Given the description of an element on the screen output the (x, y) to click on. 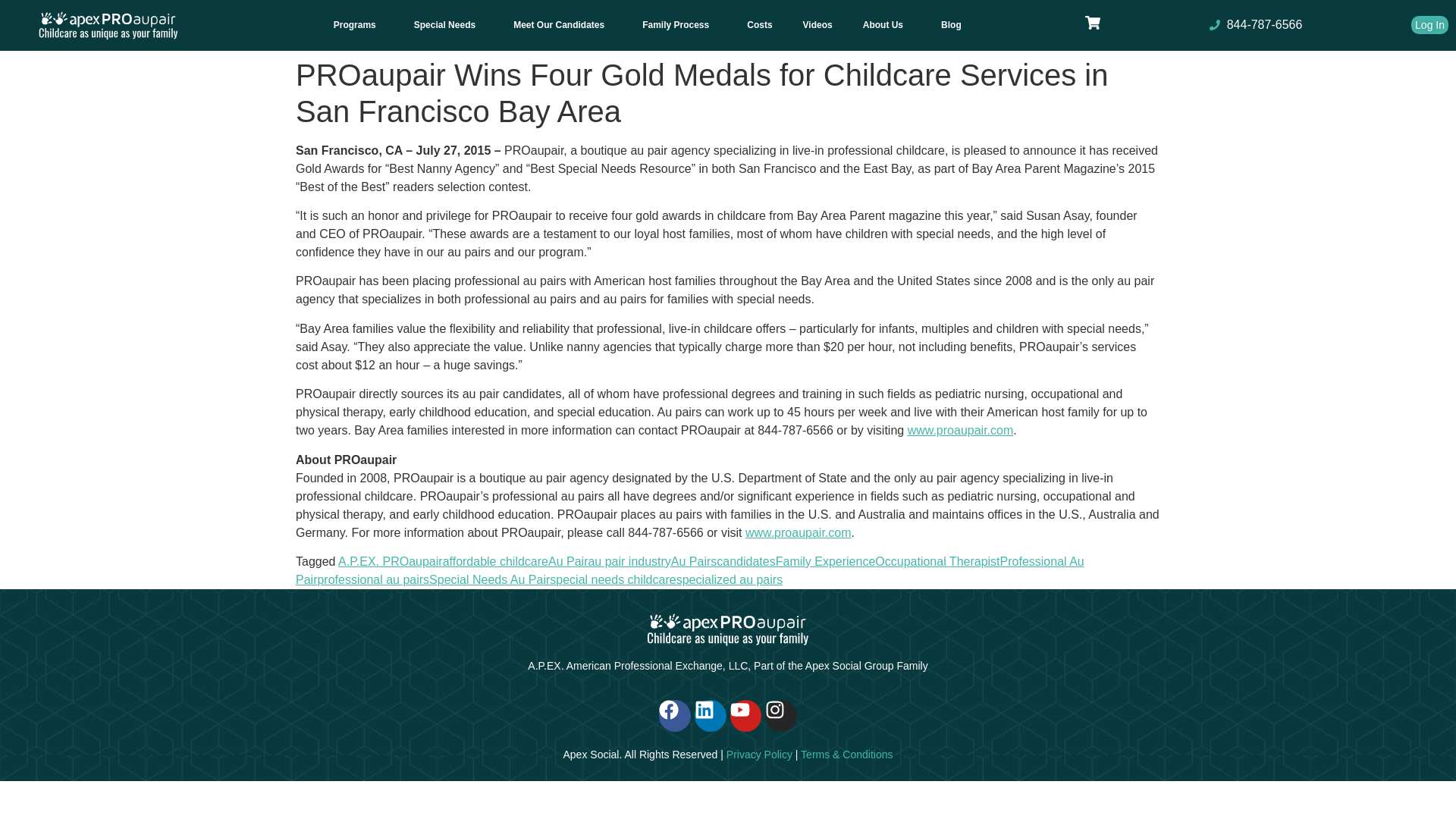
Special Needs (447, 24)
Costs (759, 24)
Blog (951, 24)
Meet Our Candidates (562, 24)
Programs (358, 24)
Videos (817, 24)
Programs (358, 24)
Meet Our Candidates (562, 24)
Special Needs (447, 24)
About Us (886, 24)
Family Process (679, 24)
